Given the description of an element on the screen output the (x, y) to click on. 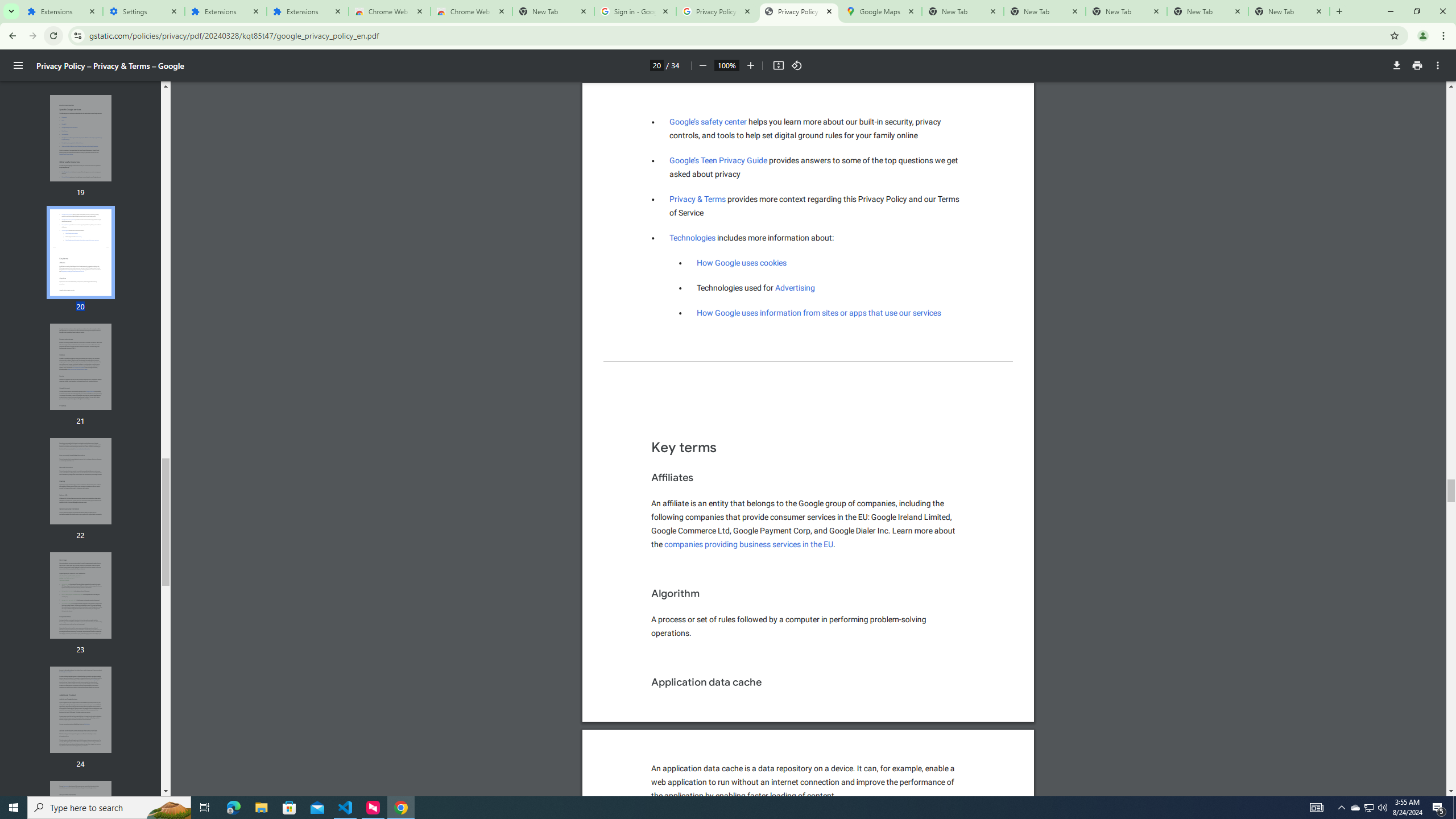
Download (1396, 65)
New Tab (1289, 11)
Advertising (794, 288)
How Google uses cookies (742, 262)
Zoom level (726, 64)
companies providing business services in the EU (748, 544)
Menu (17, 65)
